Given the description of an element on the screen output the (x, y) to click on. 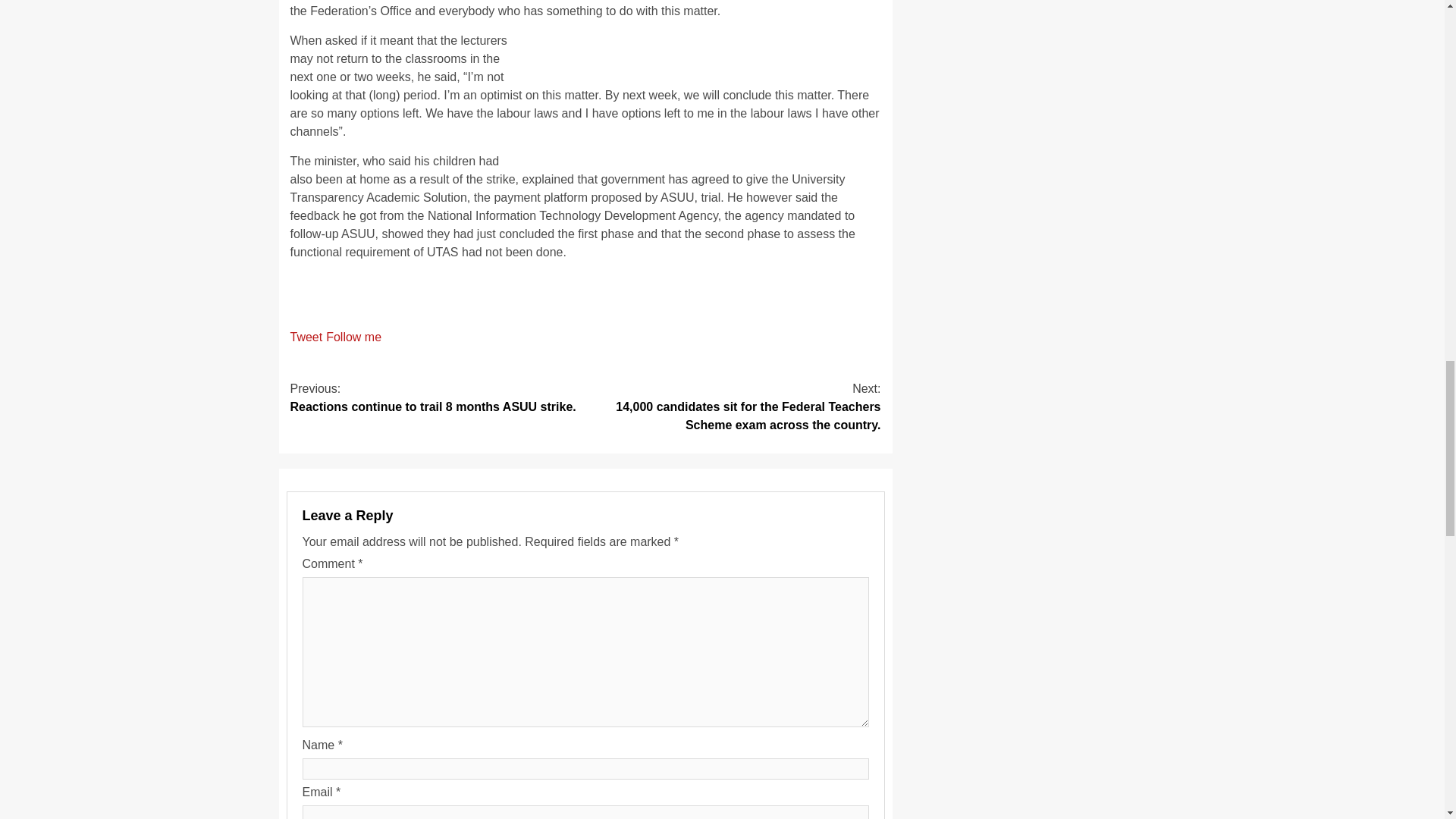
Follow me (353, 336)
Tweet (305, 336)
